Given the description of an element on the screen output the (x, y) to click on. 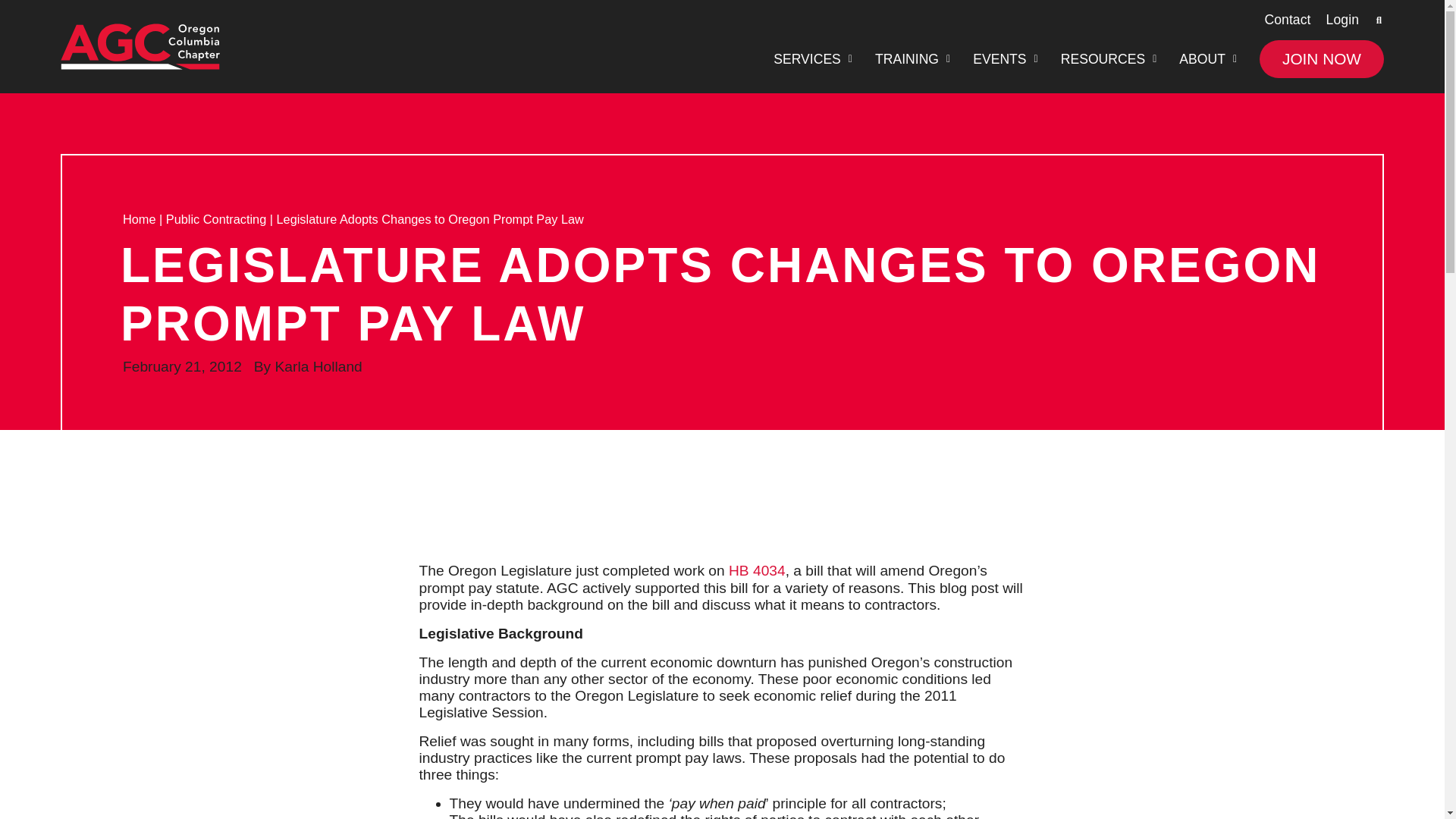
Login (1342, 19)
SERVICES (812, 59)
Contact (1286, 19)
TRAINING (911, 59)
HB 4034 - Enrolled (757, 570)
